Given the description of an element on the screen output the (x, y) to click on. 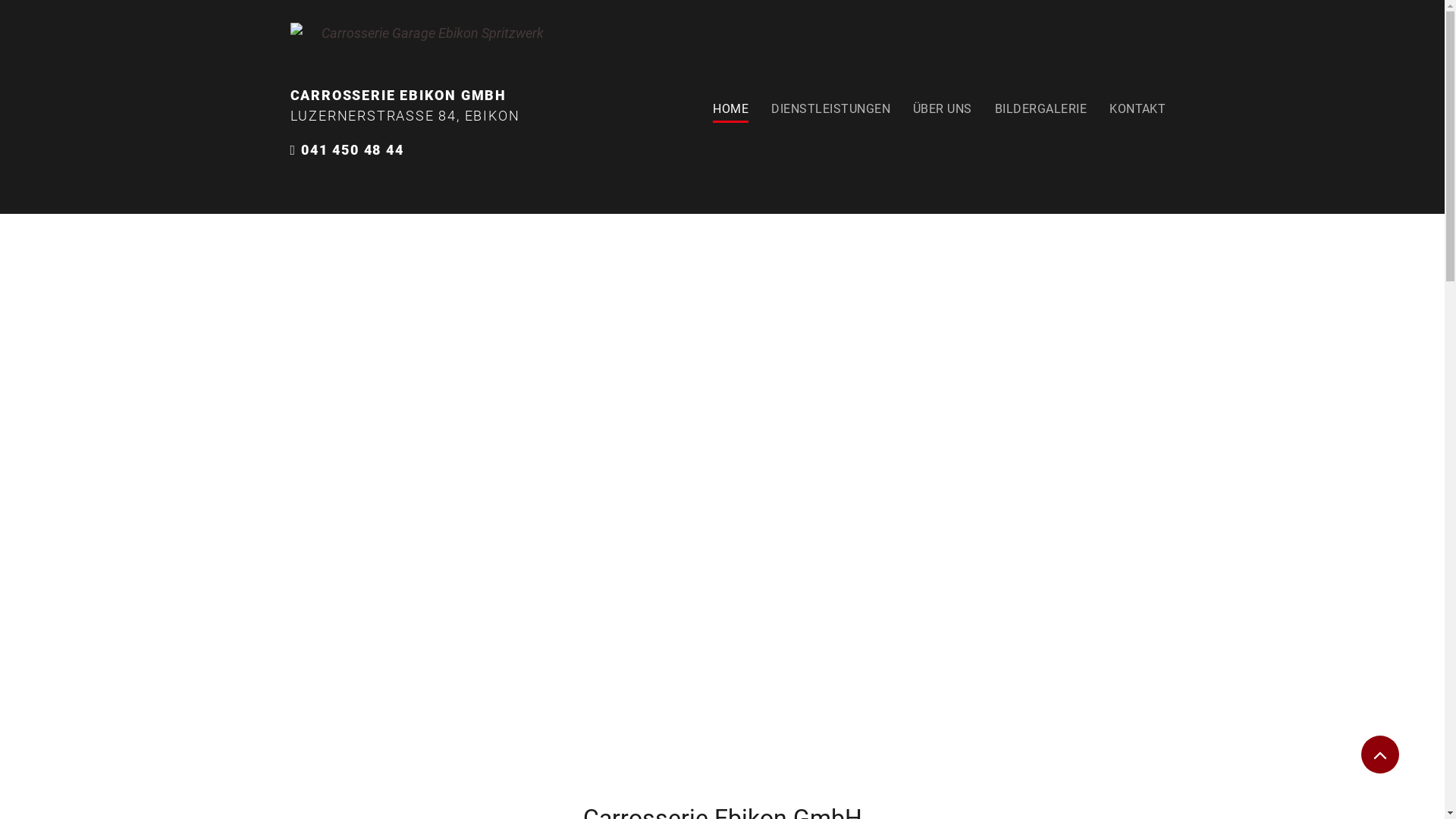
BILDERGALERIE Element type: text (1040, 103)
DIENSTLEISTUNGEN Element type: text (830, 103)
HOME Element type: text (730, 103)
KONTAKT Element type: text (1137, 103)
041 450 48 44 Element type: text (352, 149)
CARROSSERIE EBIKON GMBH Element type: text (397, 95)
